Given the description of an element on the screen output the (x, y) to click on. 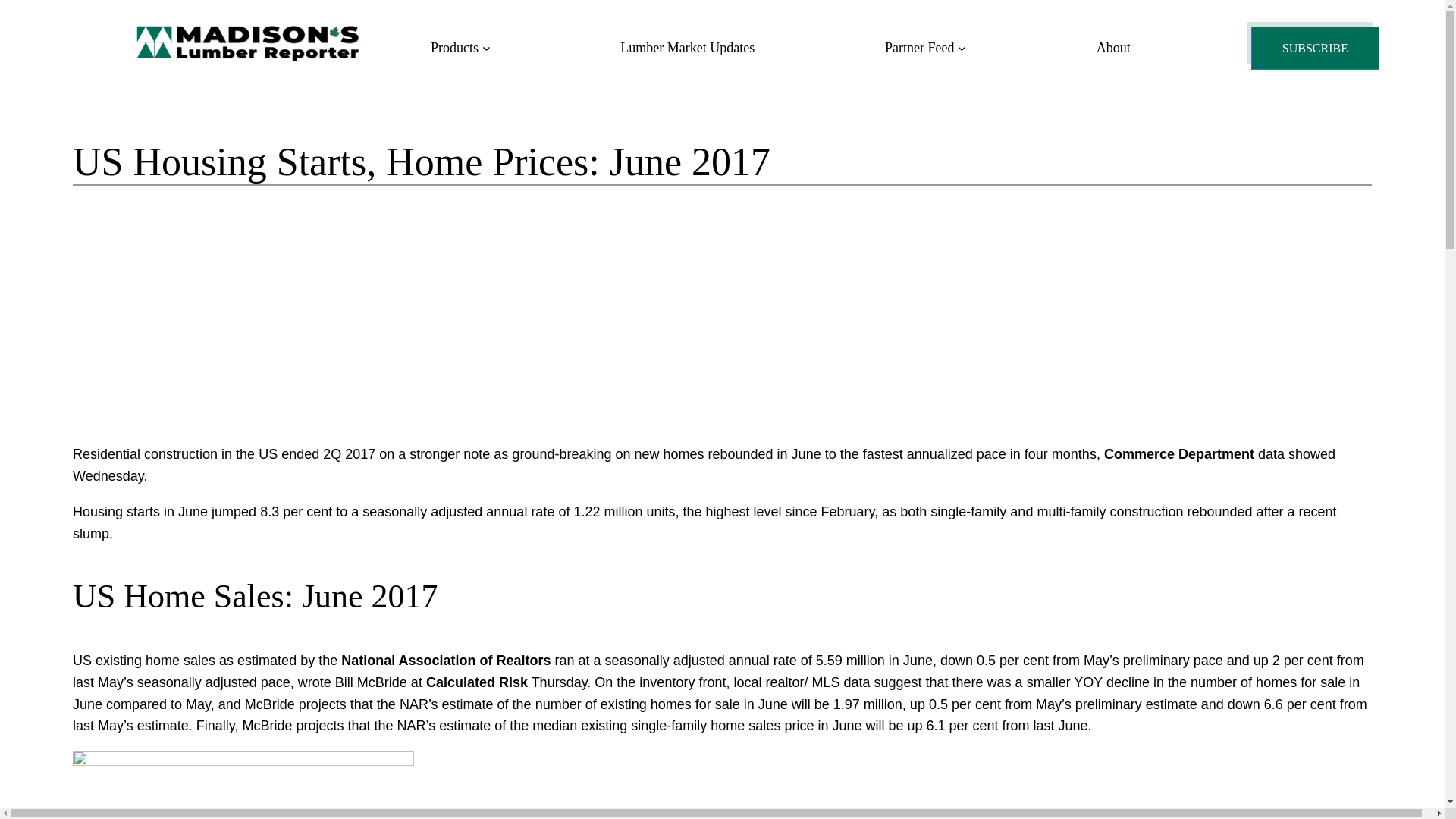
Products (454, 47)
Partner Feed (919, 47)
SUBSCRIBE (1314, 47)
Page 10 (721, 597)
Lumber Market Updates (687, 47)
About (1113, 47)
